Given the description of an element on the screen output the (x, y) to click on. 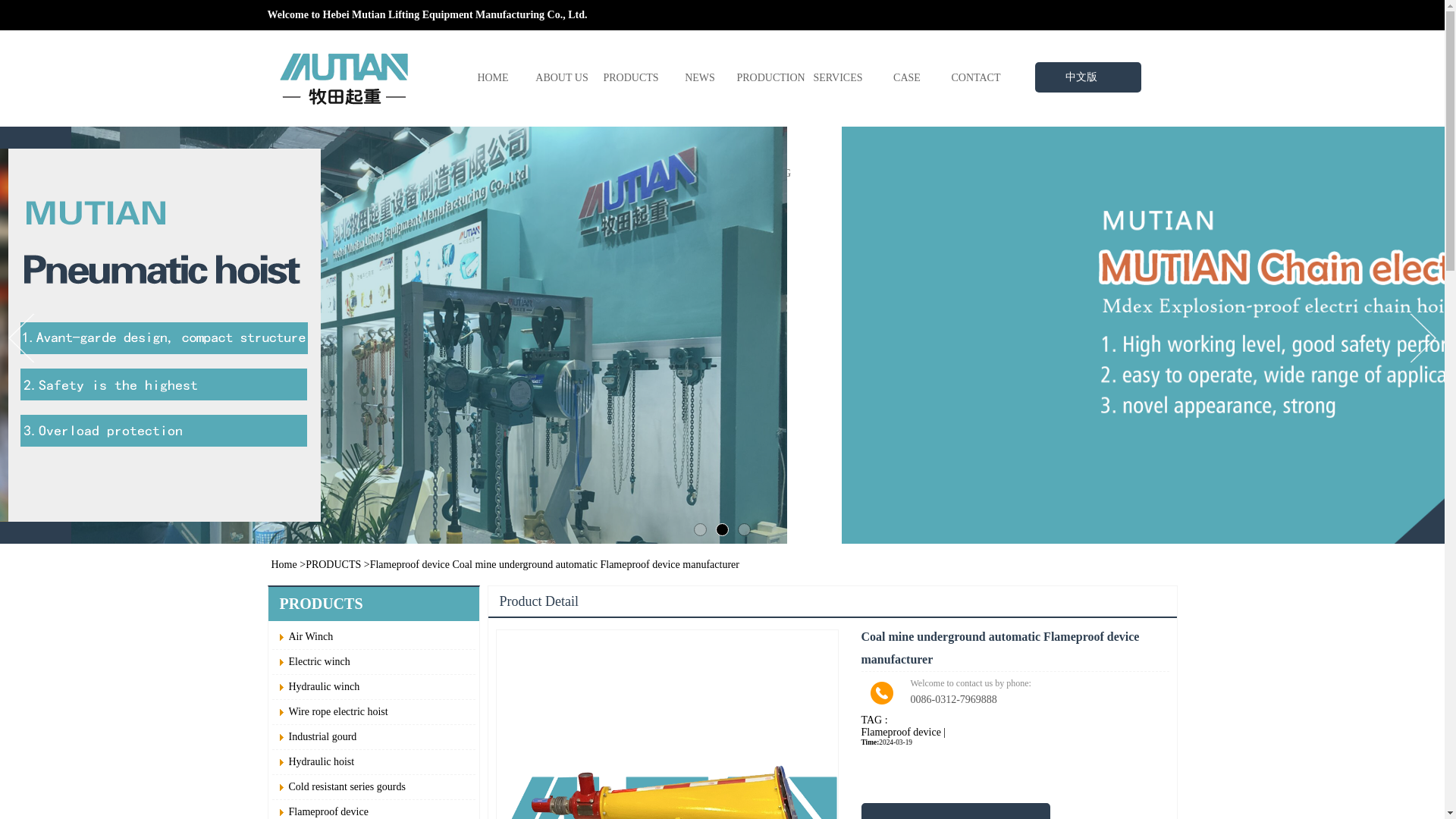
Hydraulic winch (377, 686)
Hydraulic hoist (377, 761)
Air Winch (377, 636)
Electric winch (377, 662)
PRODUCTS (333, 564)
Wire rope electric hoist (377, 711)
Industrial gourd (377, 736)
Flameproof device (409, 564)
